Given the description of an element on the screen output the (x, y) to click on. 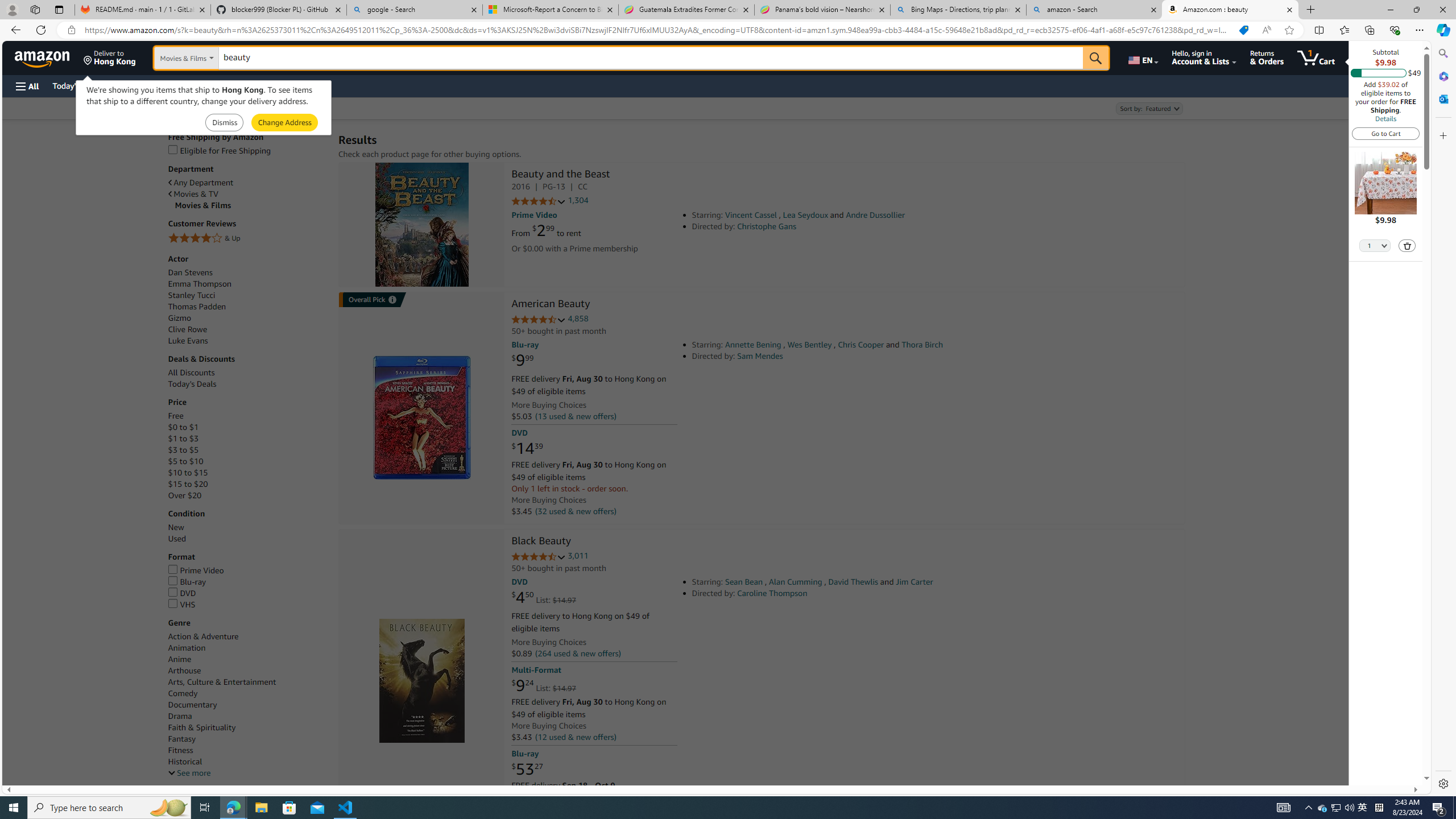
Fantasy (181, 738)
Eligible for Free Shipping (247, 150)
Over $20 (184, 495)
Prime Video (247, 570)
David Thewlis (852, 581)
Andre Dussollier (874, 214)
Go to Cart (1385, 133)
Dan Stevens (247, 272)
$4.50 List: $14.97 (543, 597)
Amazon (43, 57)
Christophe Gans (766, 226)
Fitness (180, 750)
